Given the description of an element on the screen output the (x, y) to click on. 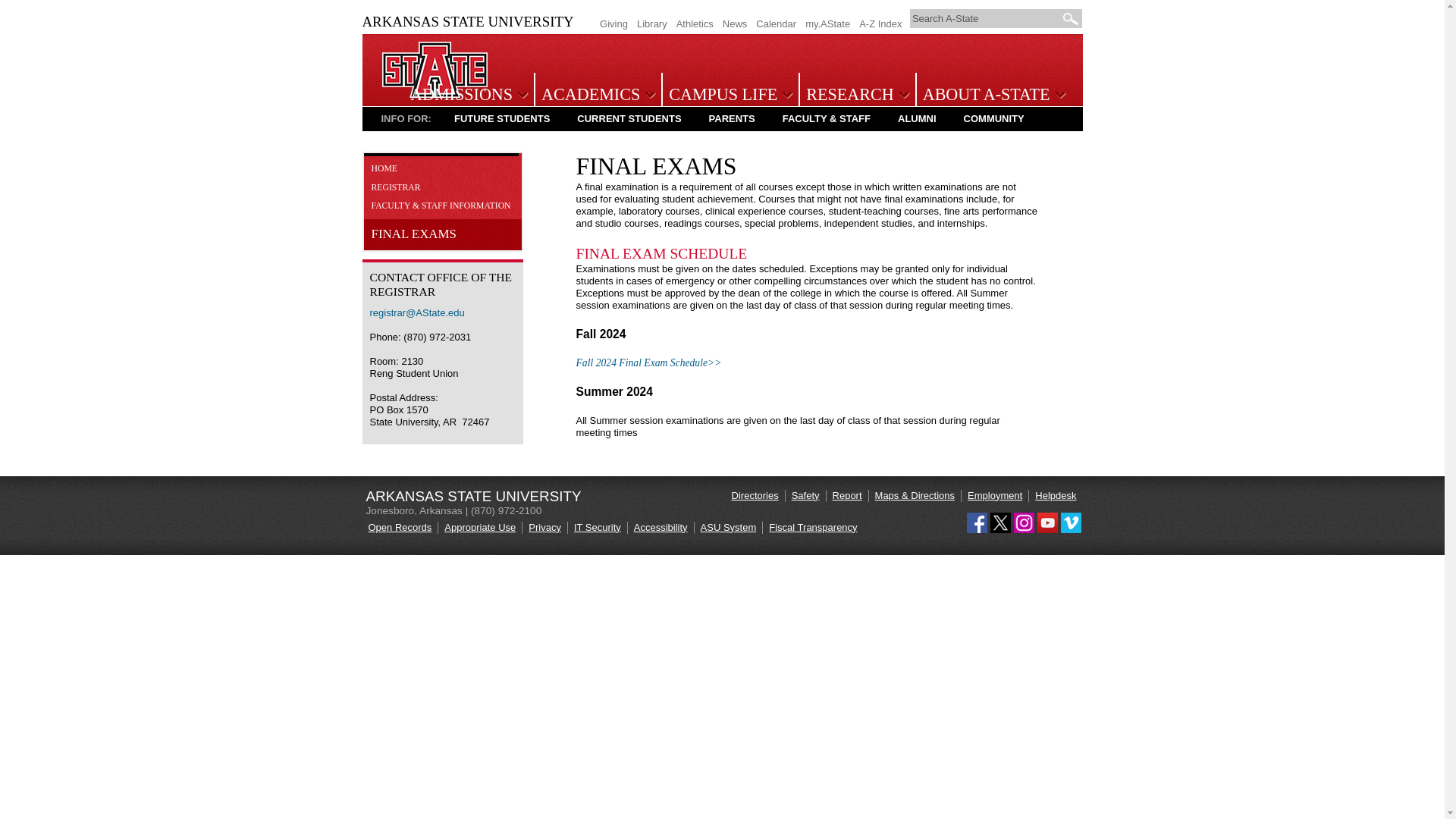
Fall 2024 Final Exam Schedule (649, 362)
ADMISSIONS (466, 95)
CAMPUS LIFE (727, 95)
Arkansas State University (434, 93)
Go (1070, 18)
Search A-State (985, 18)
ACADEMICS (595, 95)
